Given the description of an element on the screen output the (x, y) to click on. 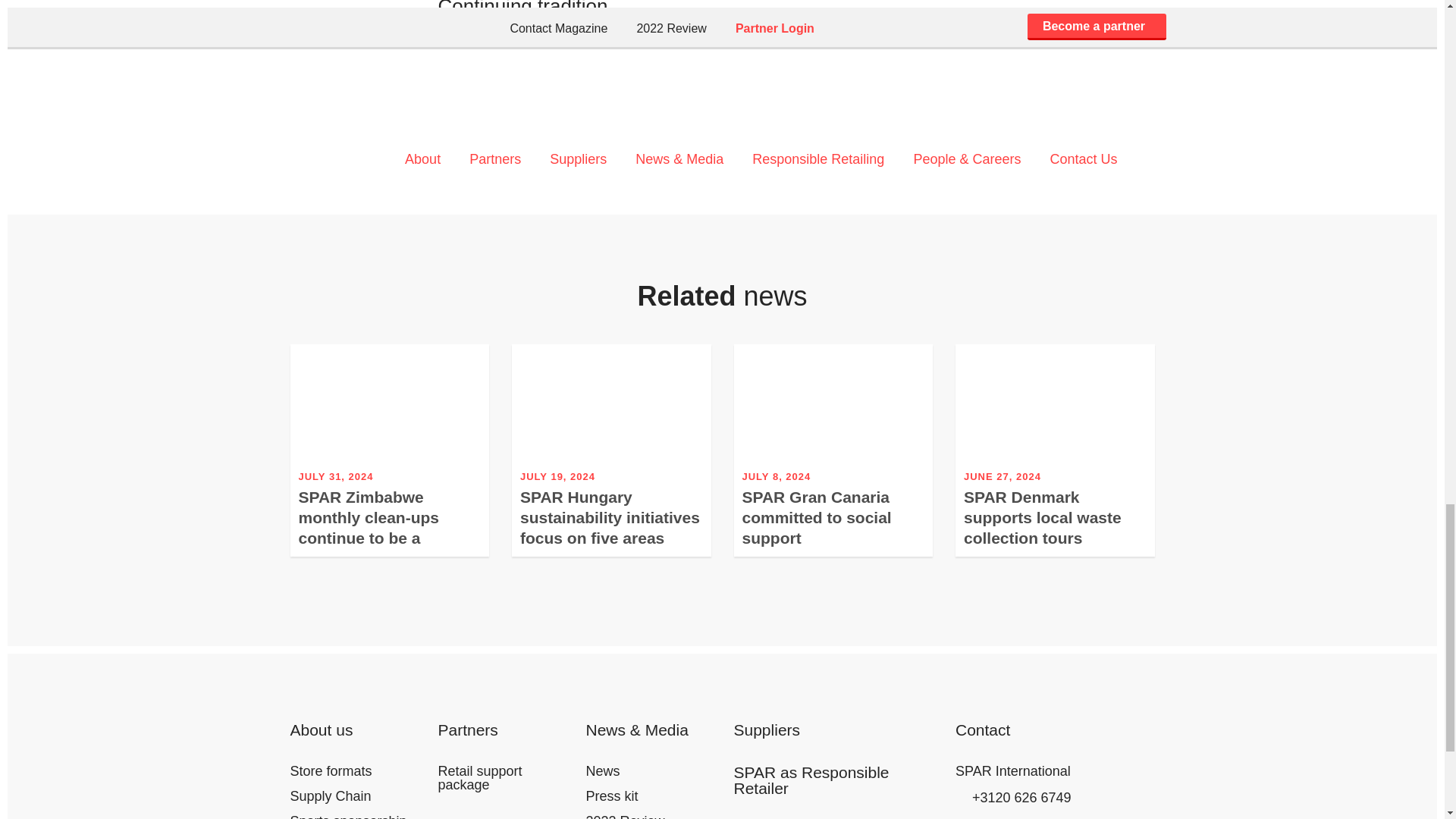
Share on LinkedIn (511, 132)
